Given the description of an element on the screen output the (x, y) to click on. 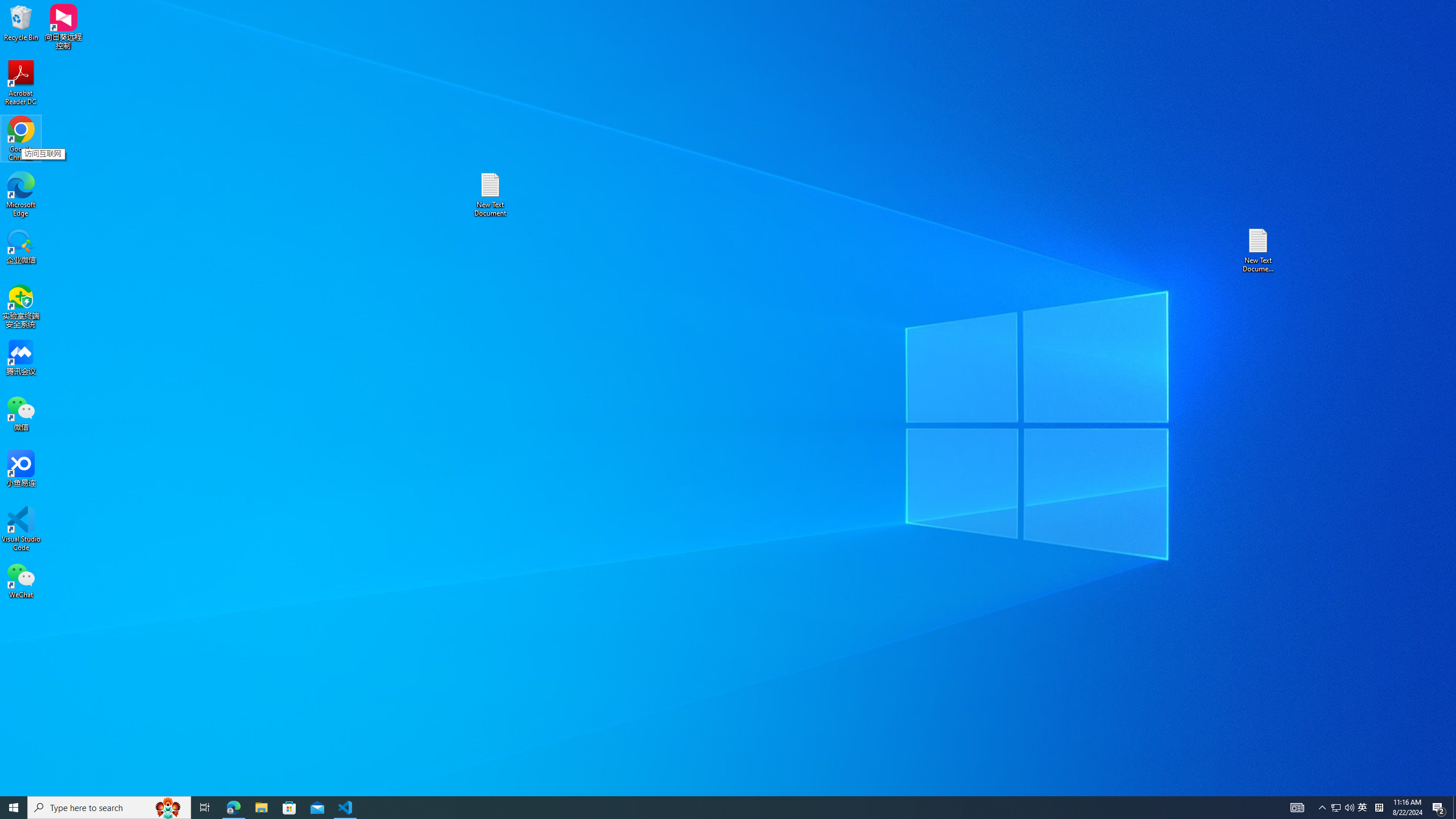
New Text Document (2) (1258, 250)
WeChat (21, 580)
Microsoft Edge (21, 194)
Action Center, 2 new notifications (1439, 807)
